Given the description of an element on the screen output the (x, y) to click on. 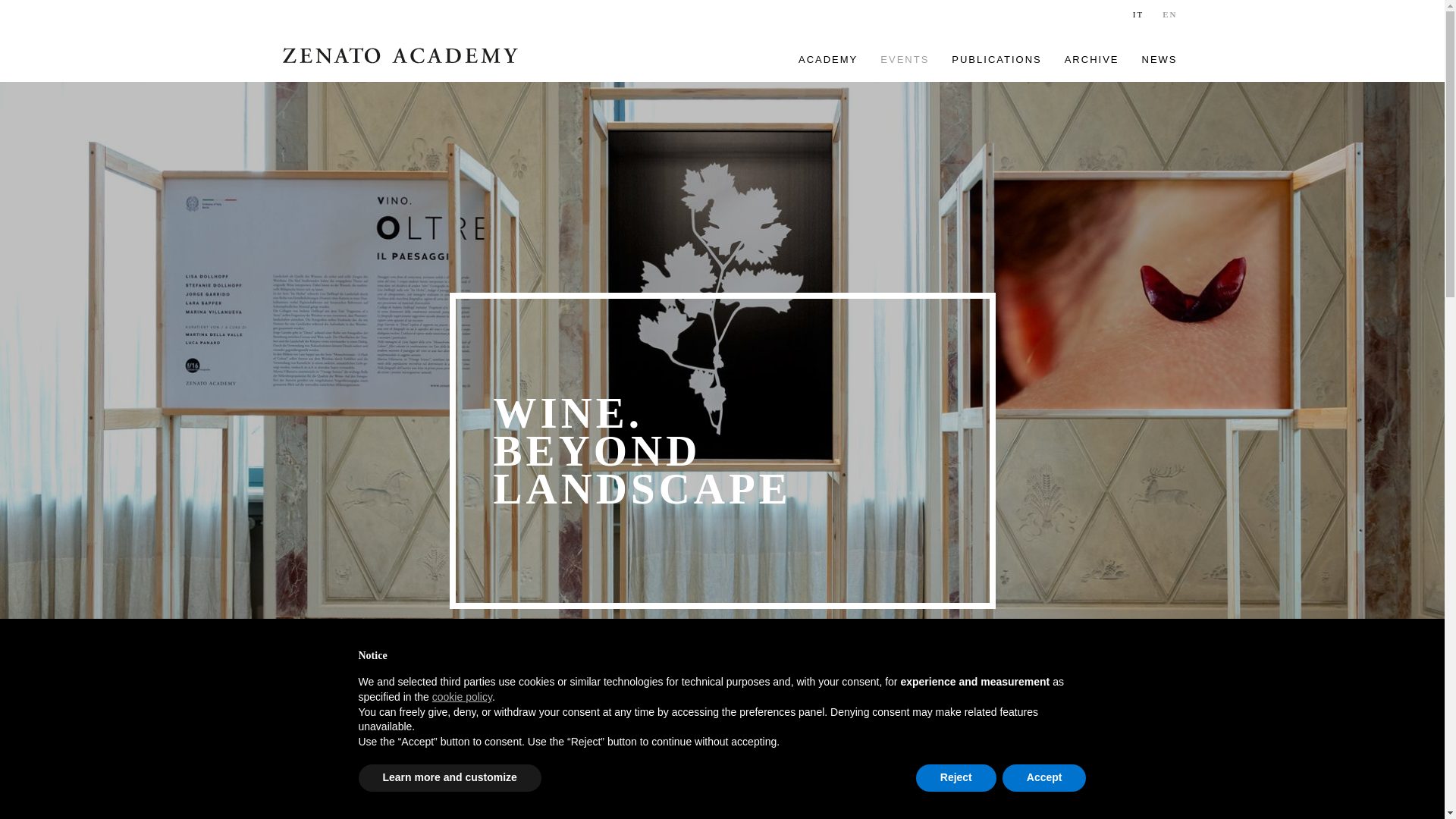
EVENTS (904, 59)
EN (1168, 14)
ARCHIVE (1091, 59)
ACADEMY (828, 59)
NEWS (1158, 59)
PUBLICATIONS (996, 59)
